Given the description of an element on the screen output the (x, y) to click on. 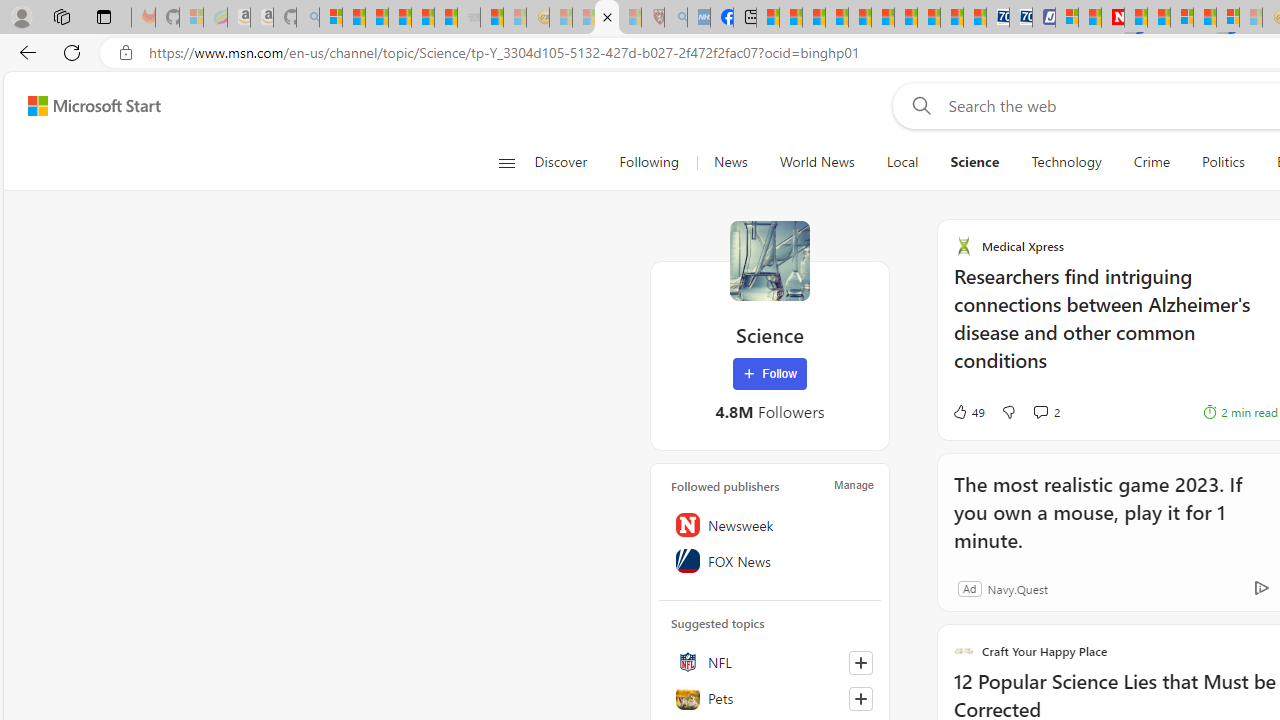
The Weather Channel - MSN (376, 17)
